Given the description of an element on the screen output the (x, y) to click on. 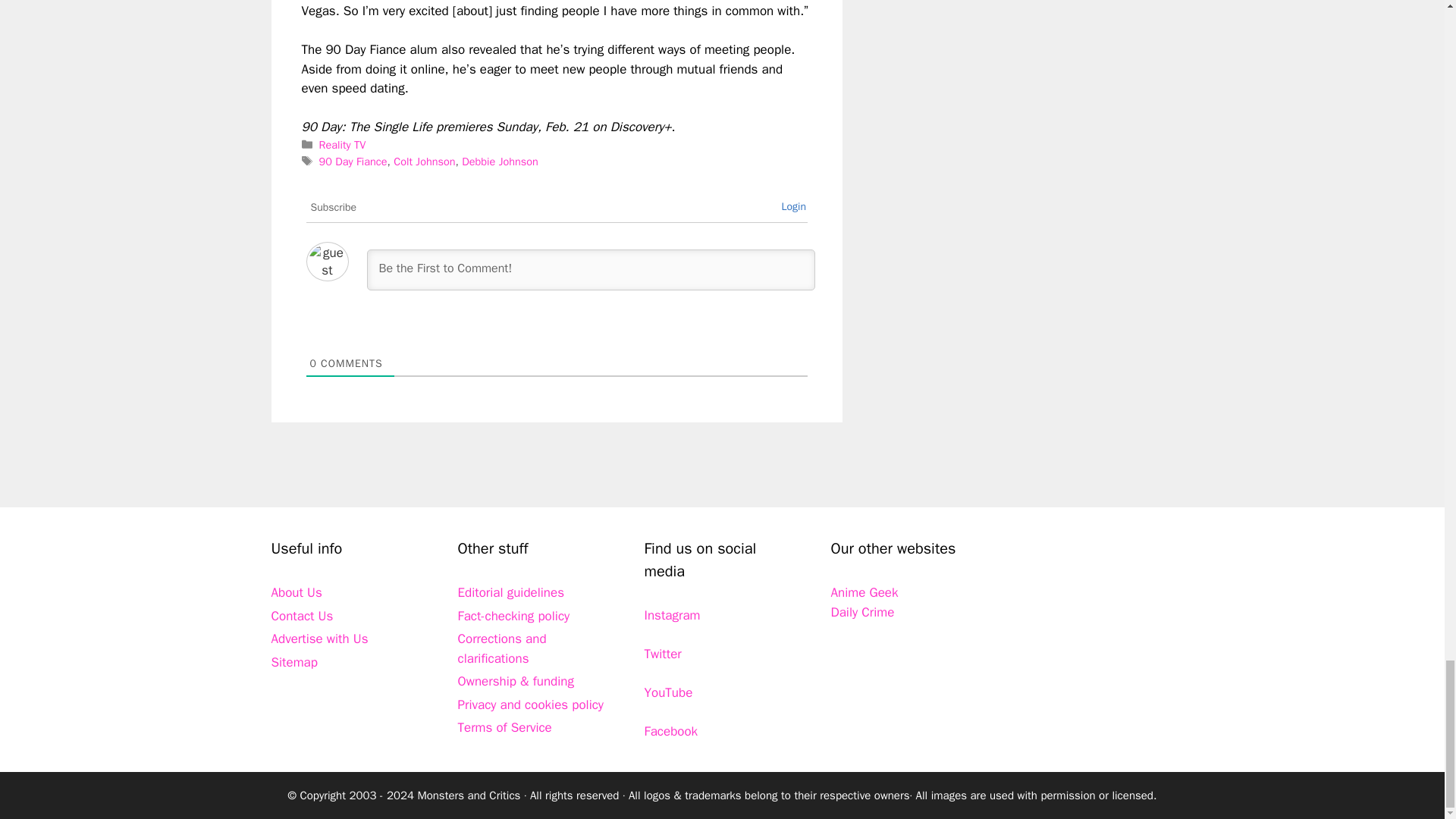
Sitemap (293, 662)
Editorial guidelines (511, 592)
Reality TV (342, 144)
Privacy and cookies policy (531, 704)
Contact Us (301, 616)
About Us (295, 592)
Debbie Johnson (499, 161)
Colt Johnson (423, 161)
Advertise with Us (319, 638)
Login (793, 205)
